Given the description of an element on the screen output the (x, y) to click on. 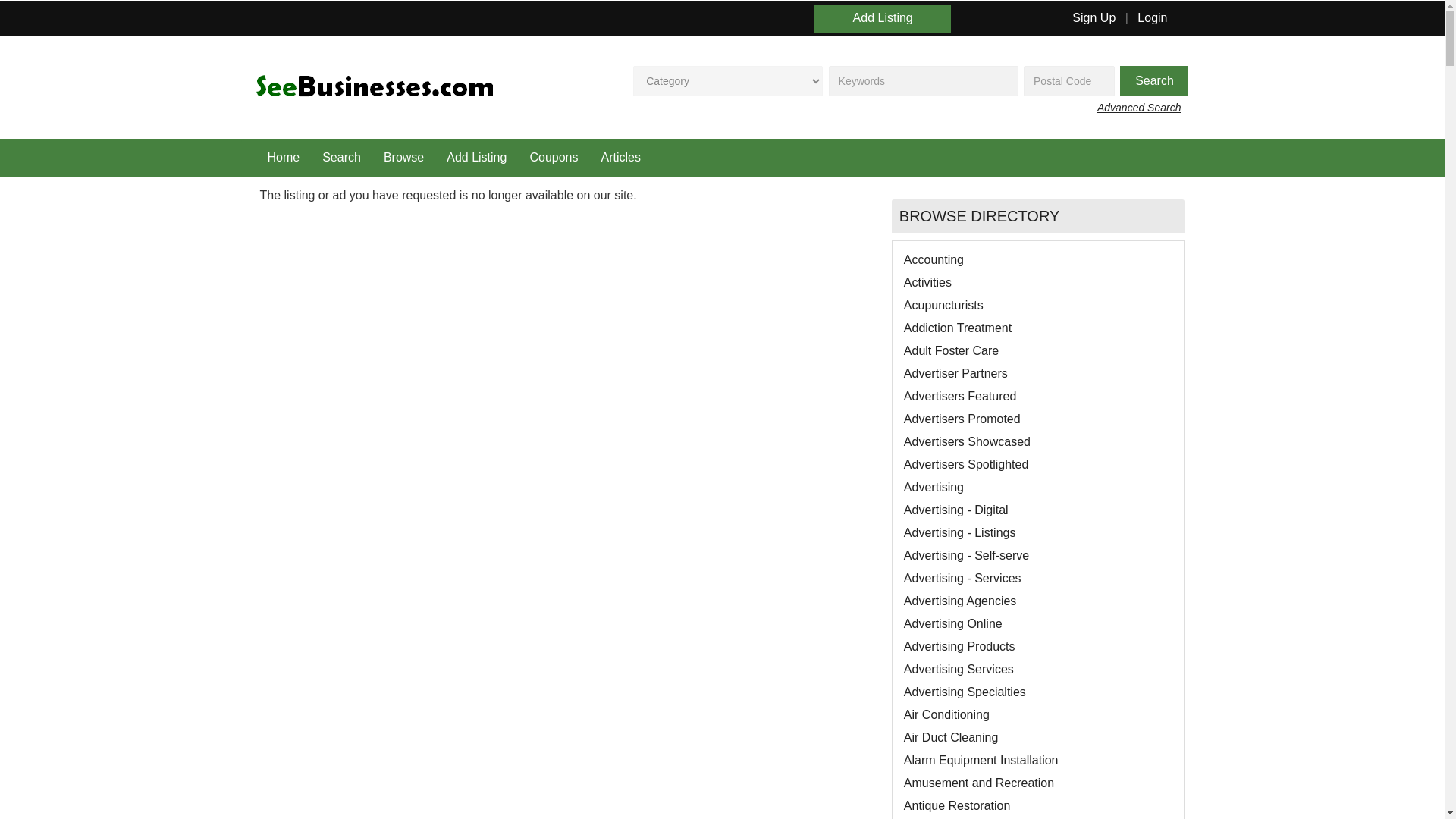
Amusement and Recreation (979, 782)
Air Duct Cleaning (951, 737)
SeeBusinesses.com Business Related Listings Marketplace (375, 87)
Addiction Treatment (957, 327)
Home (283, 157)
Advertising Agencies (960, 600)
Login (1152, 17)
Alarm Equipment Installation (981, 759)
Advanced Search (1143, 107)
Acupuncturists (944, 305)
